Given the description of an element on the screen output the (x, y) to click on. 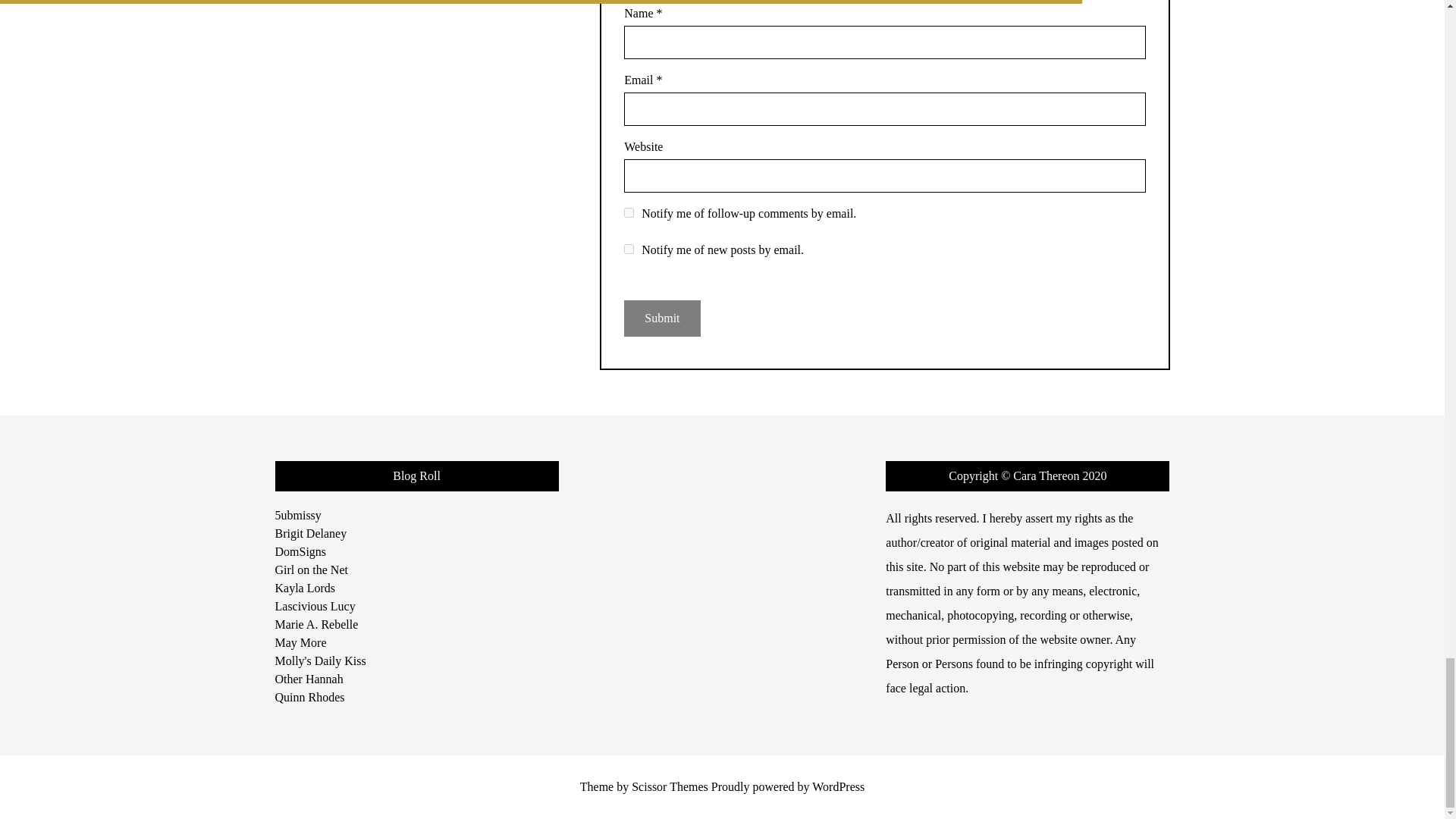
subscribe (628, 212)
subscribe (628, 248)
Submit (662, 318)
